Given the description of an element on the screen output the (x, y) to click on. 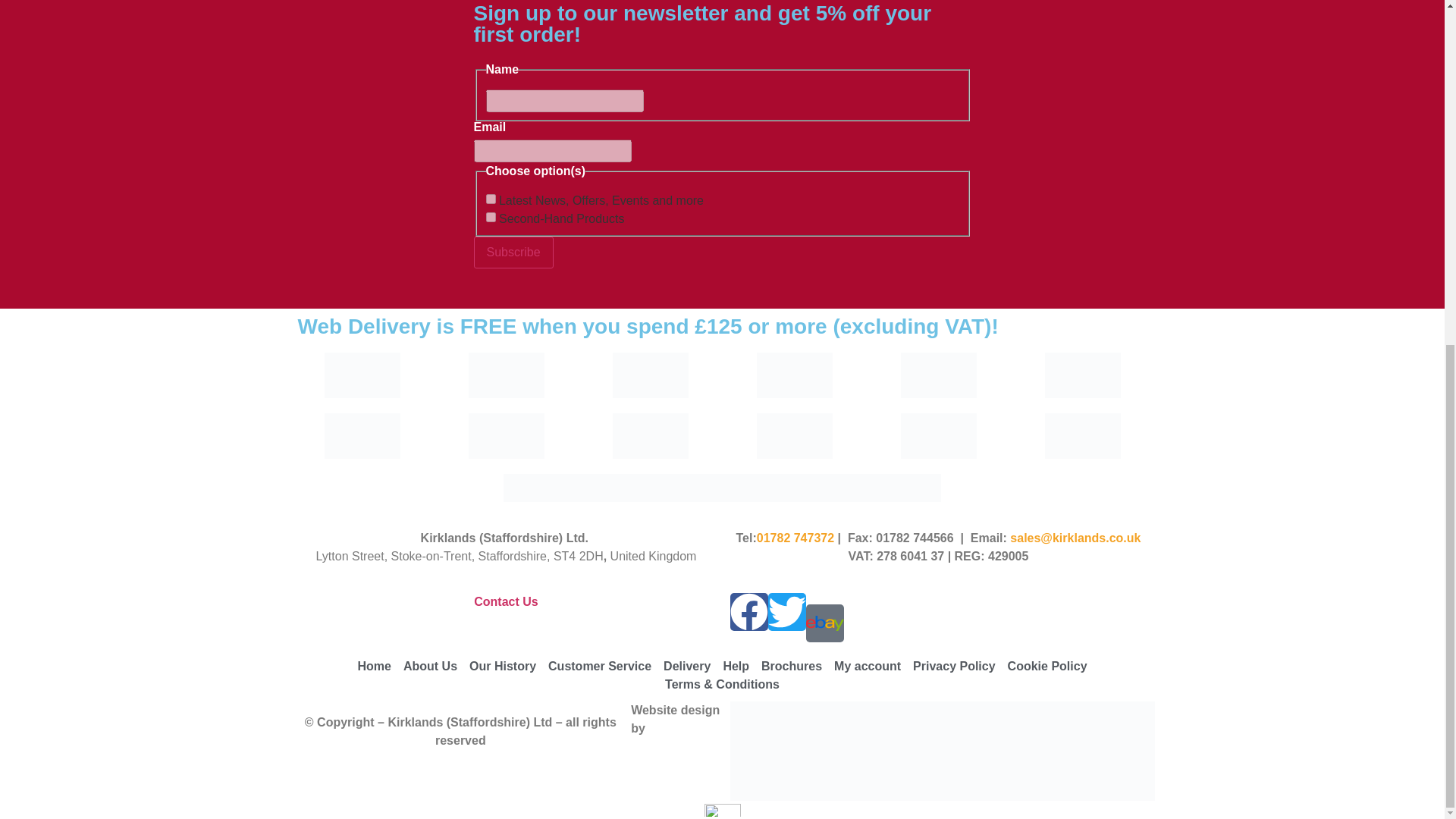
Second-Hand Products (489, 216)
Latest News, Offers, Events and more (489, 198)
Subscribe (513, 252)
